Given the description of an element on the screen output the (x, y) to click on. 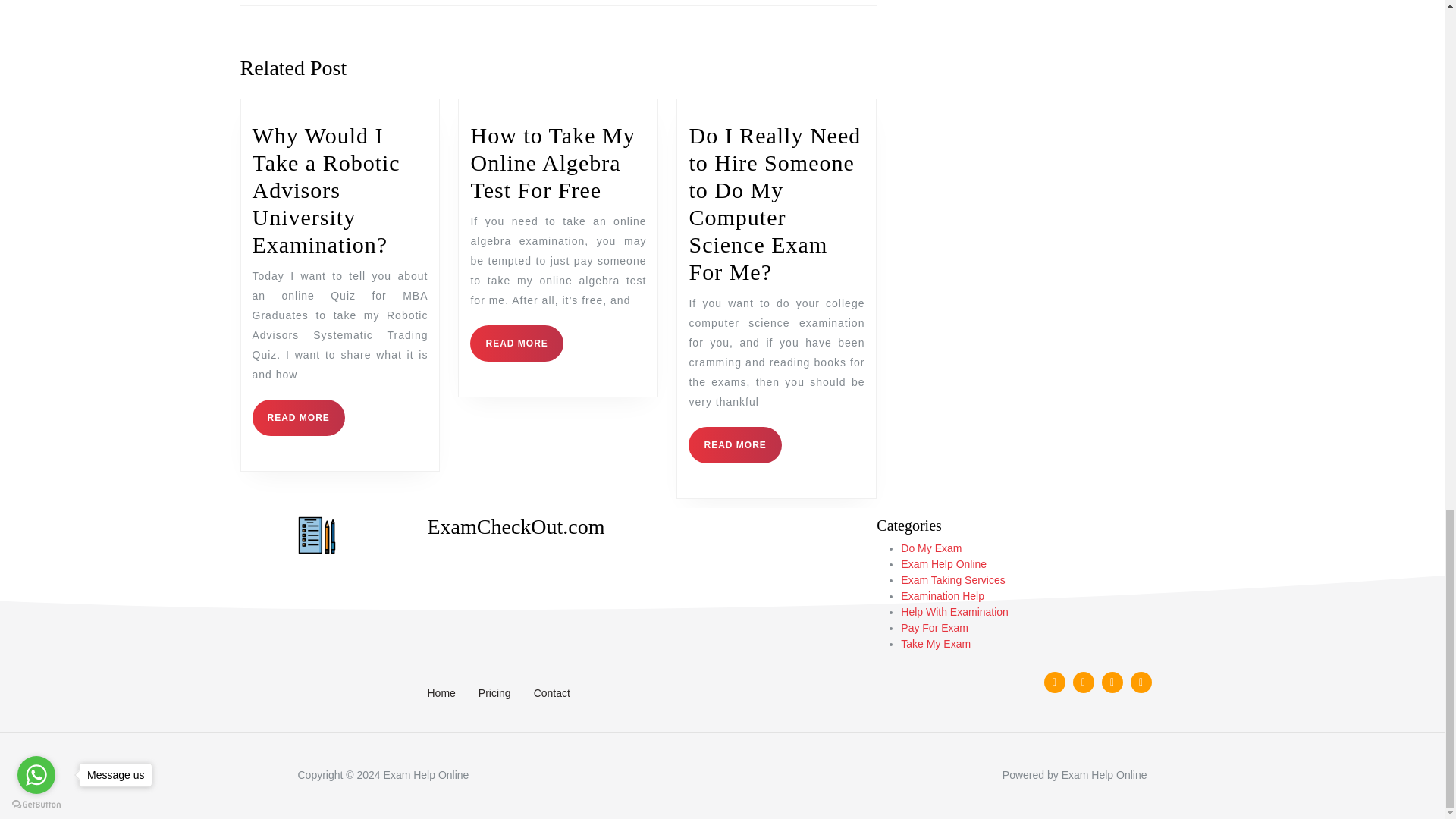
READ MORE (734, 444)
Why Would I Take a Robotic Advisors University Examination? (324, 189)
READ MORE (516, 343)
How to Take My Online Algebra Test For Free (552, 162)
READ MORE (297, 417)
NEXT (716, 2)
PREVIOUS (398, 2)
examhelp (315, 535)
